Given the description of an element on the screen output the (x, y) to click on. 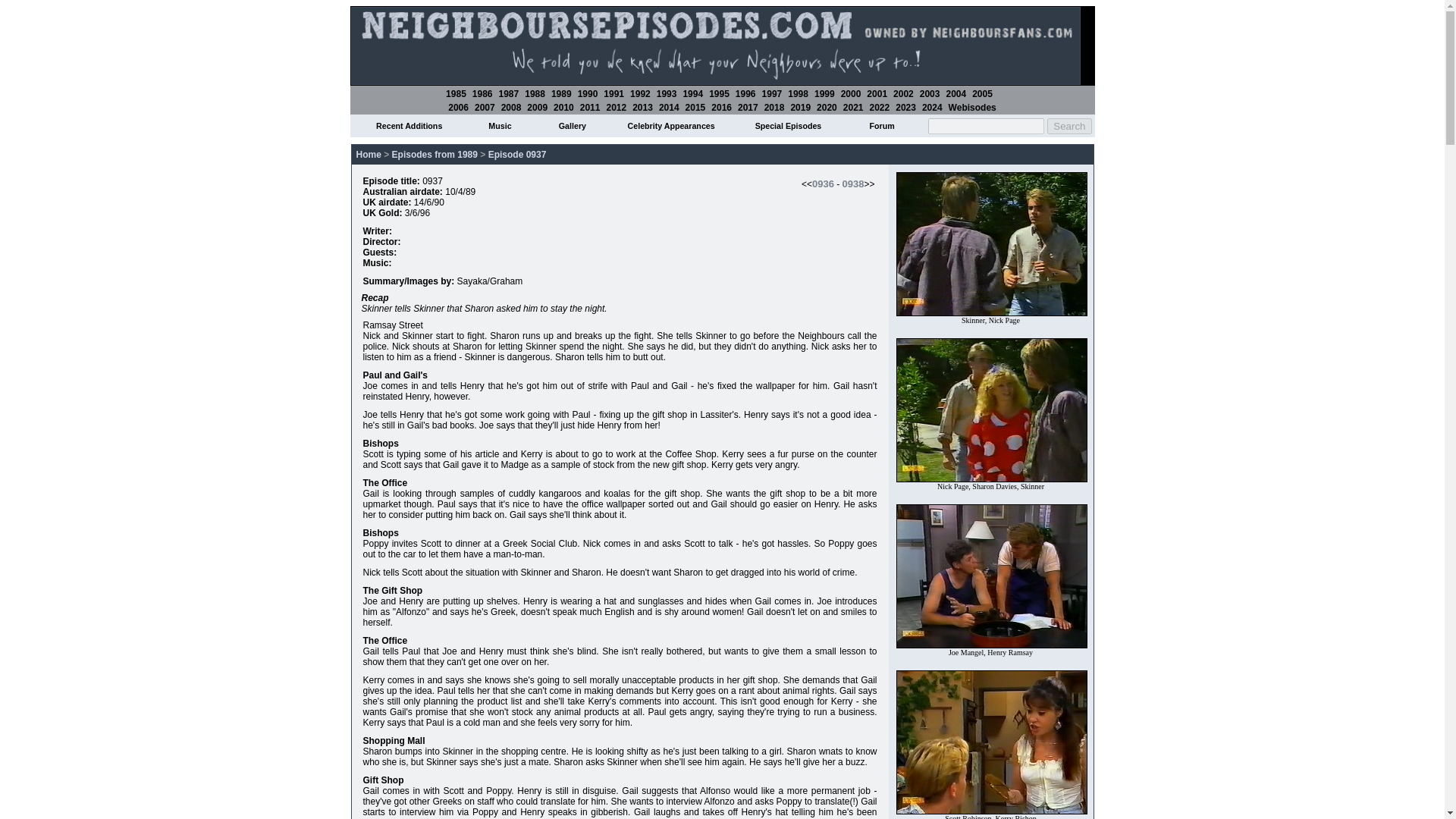
1998 (797, 93)
2002 (903, 93)
2021 (853, 107)
2011 (589, 107)
Search (1068, 125)
2007 (484, 107)
2019 (800, 107)
1992 (640, 93)
1991 (614, 93)
2009 (537, 107)
